Given the description of an element on the screen output the (x, y) to click on. 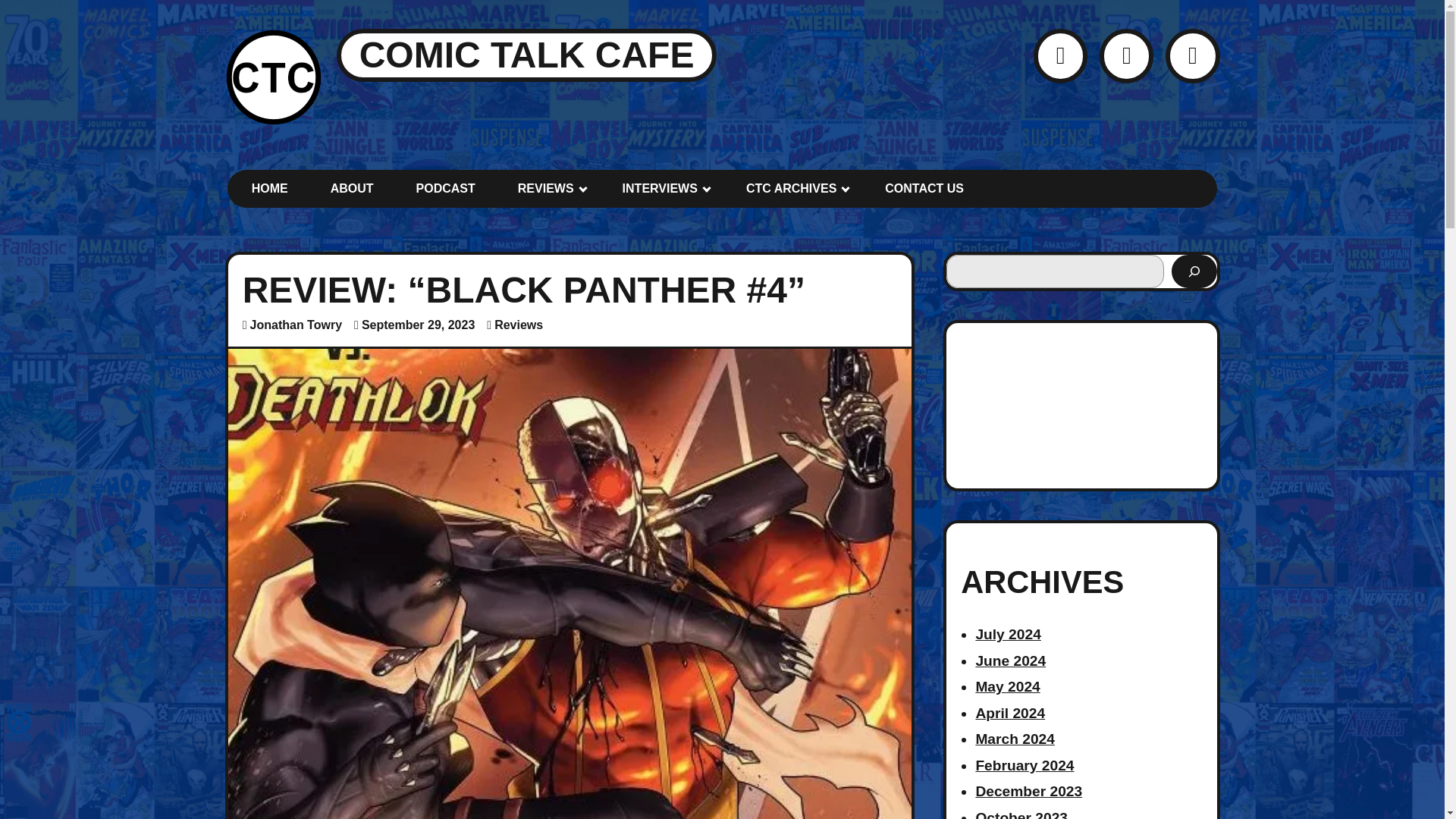
December 2023 (1028, 790)
Twitter (1060, 55)
Spotify (1193, 55)
Reviews (519, 324)
March 2024 (1014, 738)
September 29, 2023 (417, 324)
HOME (269, 187)
October 2023 (1021, 814)
COMIC TALK CAFE (526, 55)
REVIEWS (548, 187)
PODCAST (446, 187)
May 2024 (1007, 686)
February 2024 (1024, 765)
April 2024 (1010, 713)
YouTube (1126, 55)
